Given the description of an element on the screen output the (x, y) to click on. 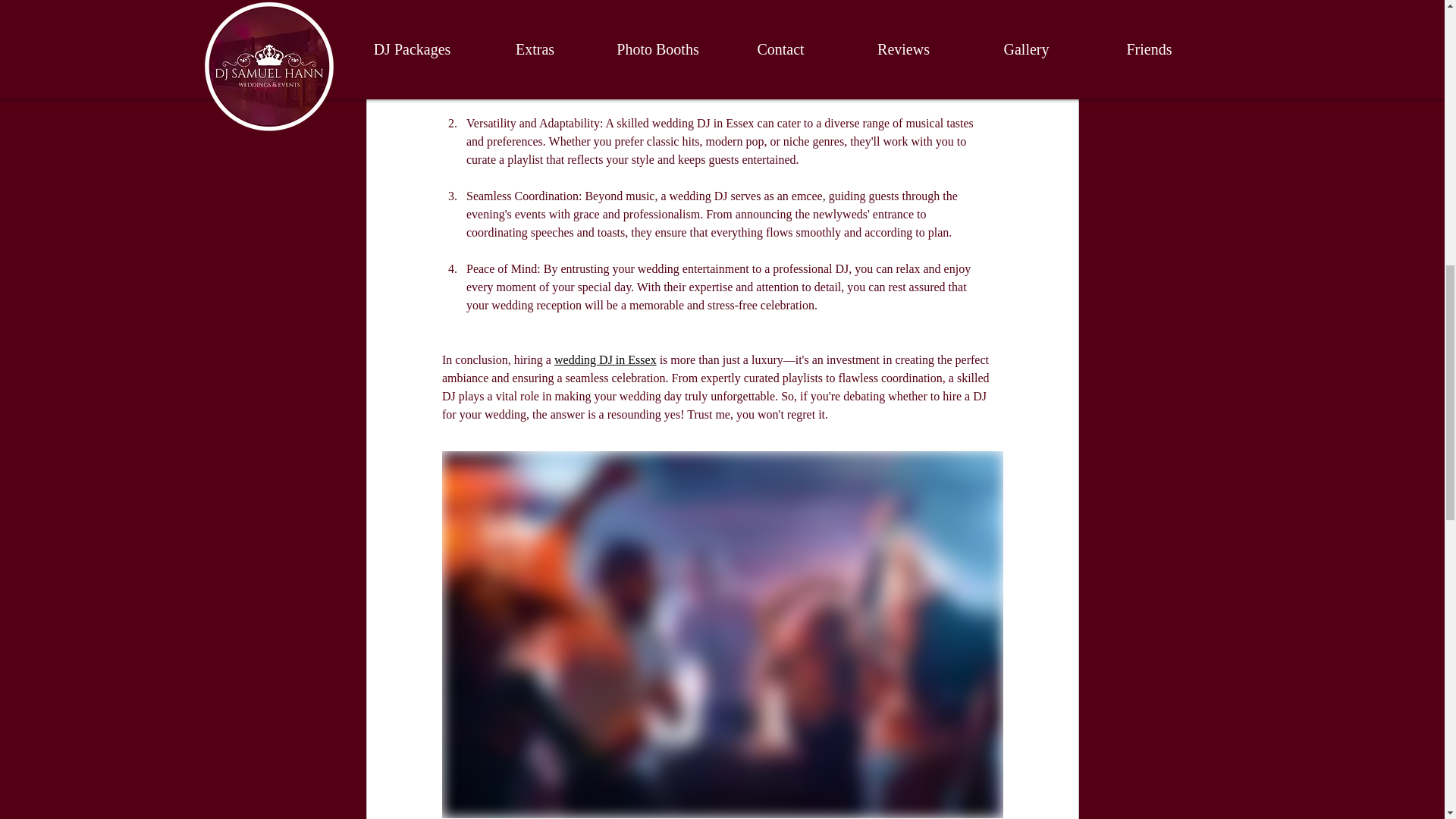
wedding DJ in Essex (604, 359)
